Given the description of an element on the screen output the (x, y) to click on. 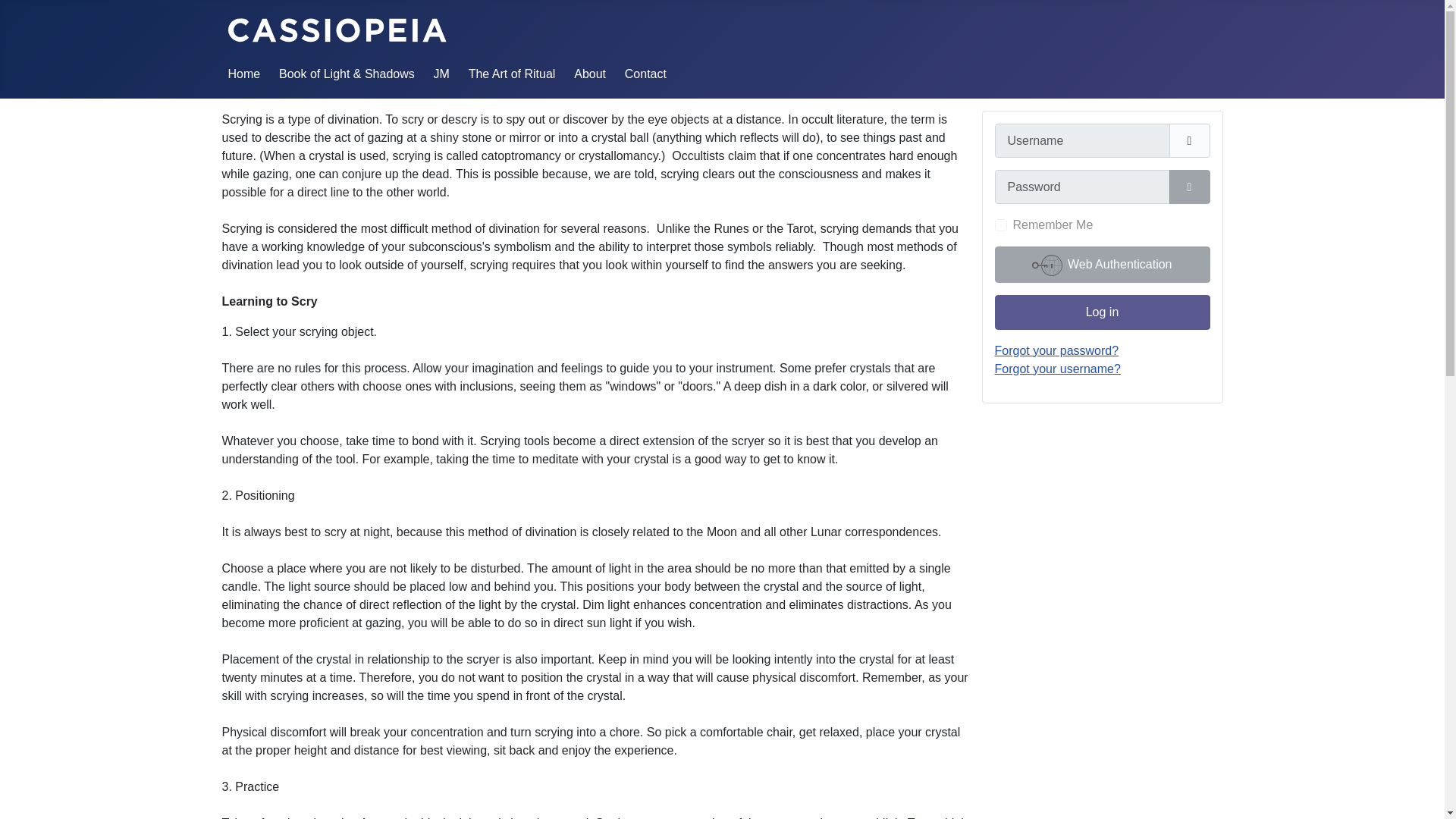
yes (1000, 224)
About (589, 73)
Web Authentication (1101, 264)
Forgot your username? (1057, 368)
Show Password (1189, 186)
Log in (1101, 311)
Contact (645, 73)
Home (243, 73)
Web Authentication (1101, 264)
The Art of Ritual (512, 73)
Forgot your password? (1056, 350)
Username (1189, 140)
